Given the description of an element on the screen output the (x, y) to click on. 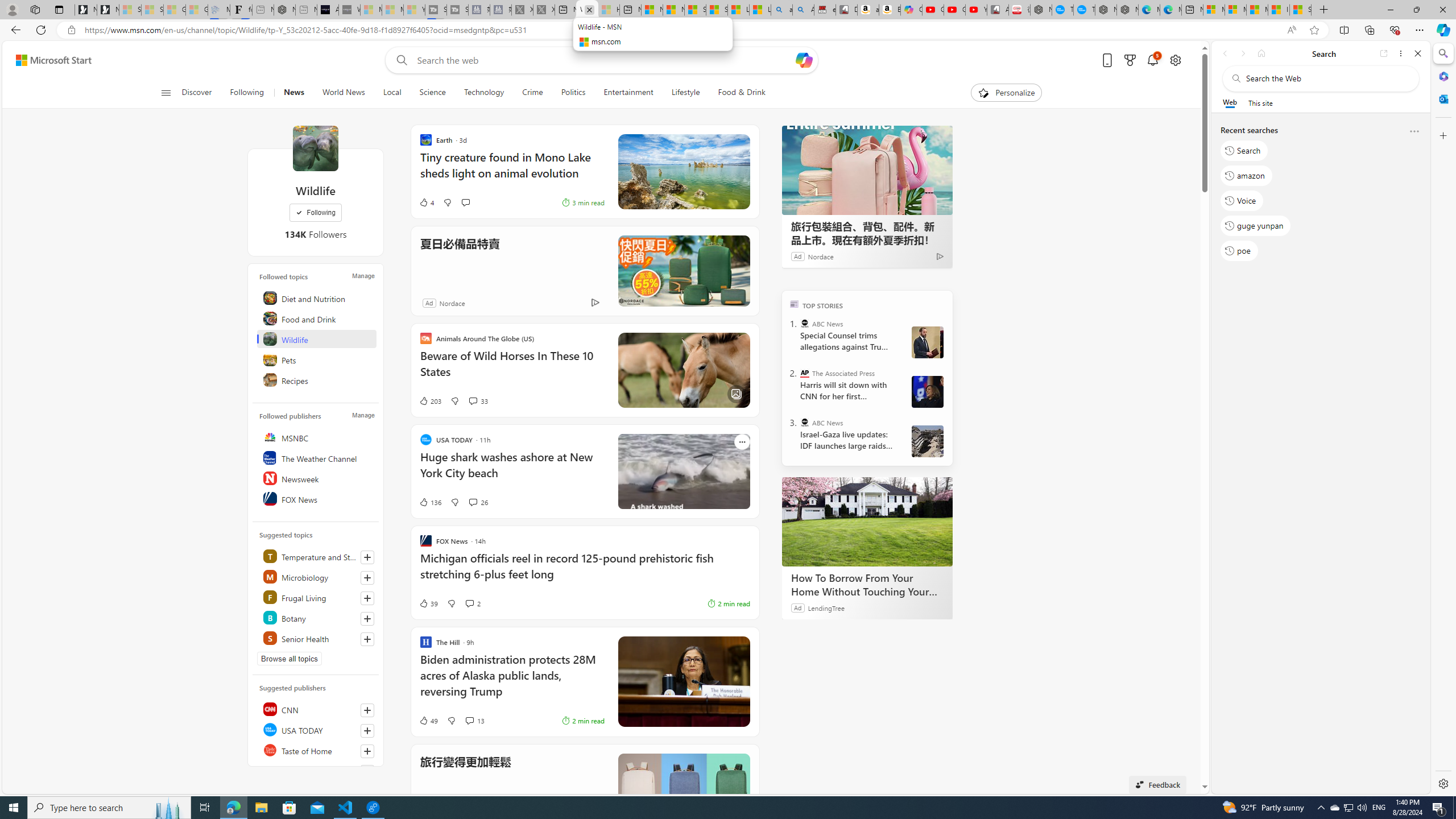
Technology (483, 92)
This site scope (1259, 102)
View comments 2 Comment (469, 602)
Food and Drink (317, 318)
Personalize (1006, 92)
AI Voice Changer for PC and Mac - Voice.ai (327, 9)
Huge shark washes ashore at New York City beach (511, 470)
